Given the description of an element on the screen output the (x, y) to click on. 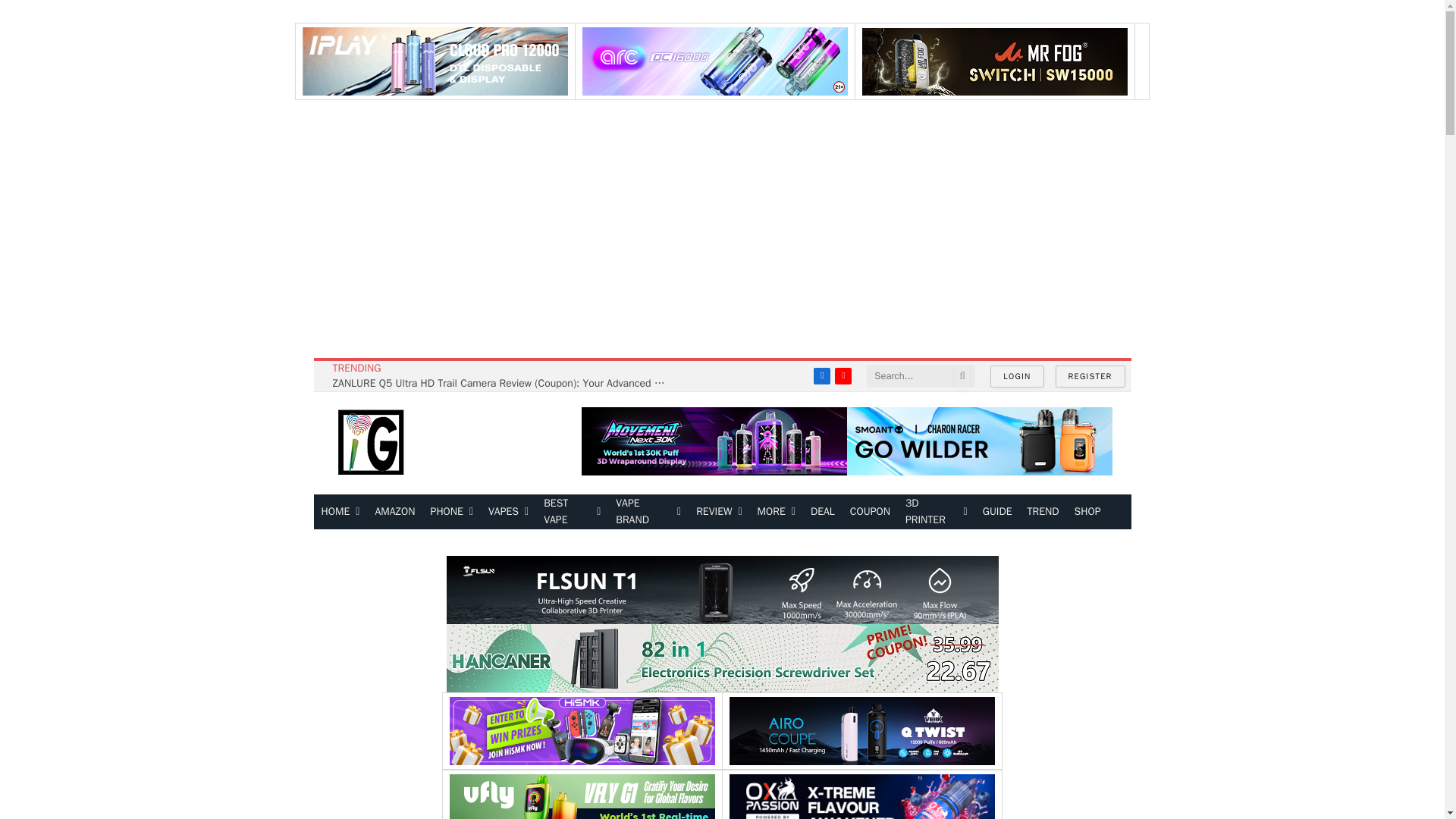
YouTube (842, 375)
HOME (341, 511)
Facebook (821, 375)
LOGIN (1016, 376)
REGISTER (1090, 376)
PHONE (451, 511)
AMAZON (394, 511)
